Given the description of an element on the screen output the (x, y) to click on. 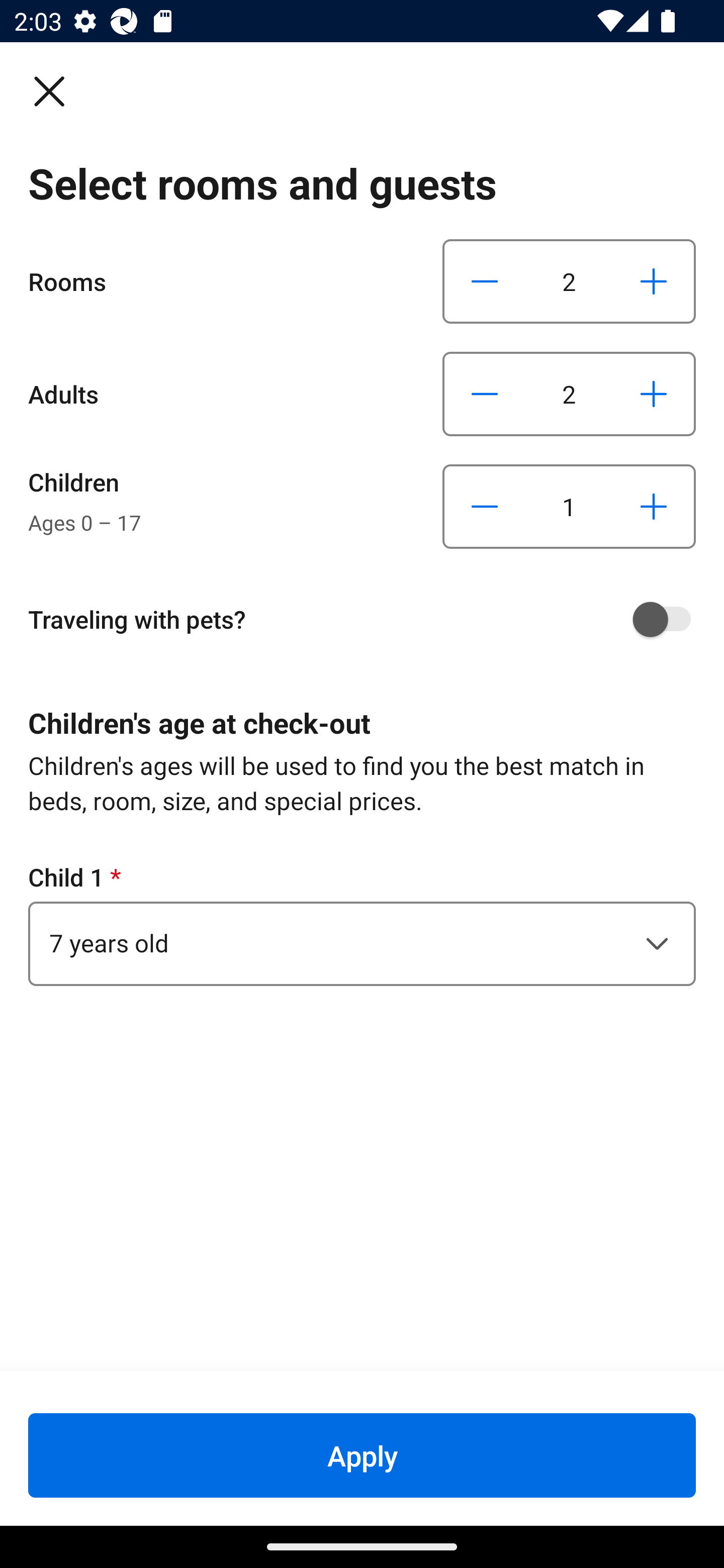
Decrease (484, 281)
Increase (653, 281)
Decrease (484, 393)
Increase (653, 393)
Decrease (484, 506)
Increase (653, 506)
Traveling with pets? (369, 619)
Child 1
required Child 1 * 7 years old (361, 922)
Apply (361, 1454)
